Given the description of an element on the screen output the (x, y) to click on. 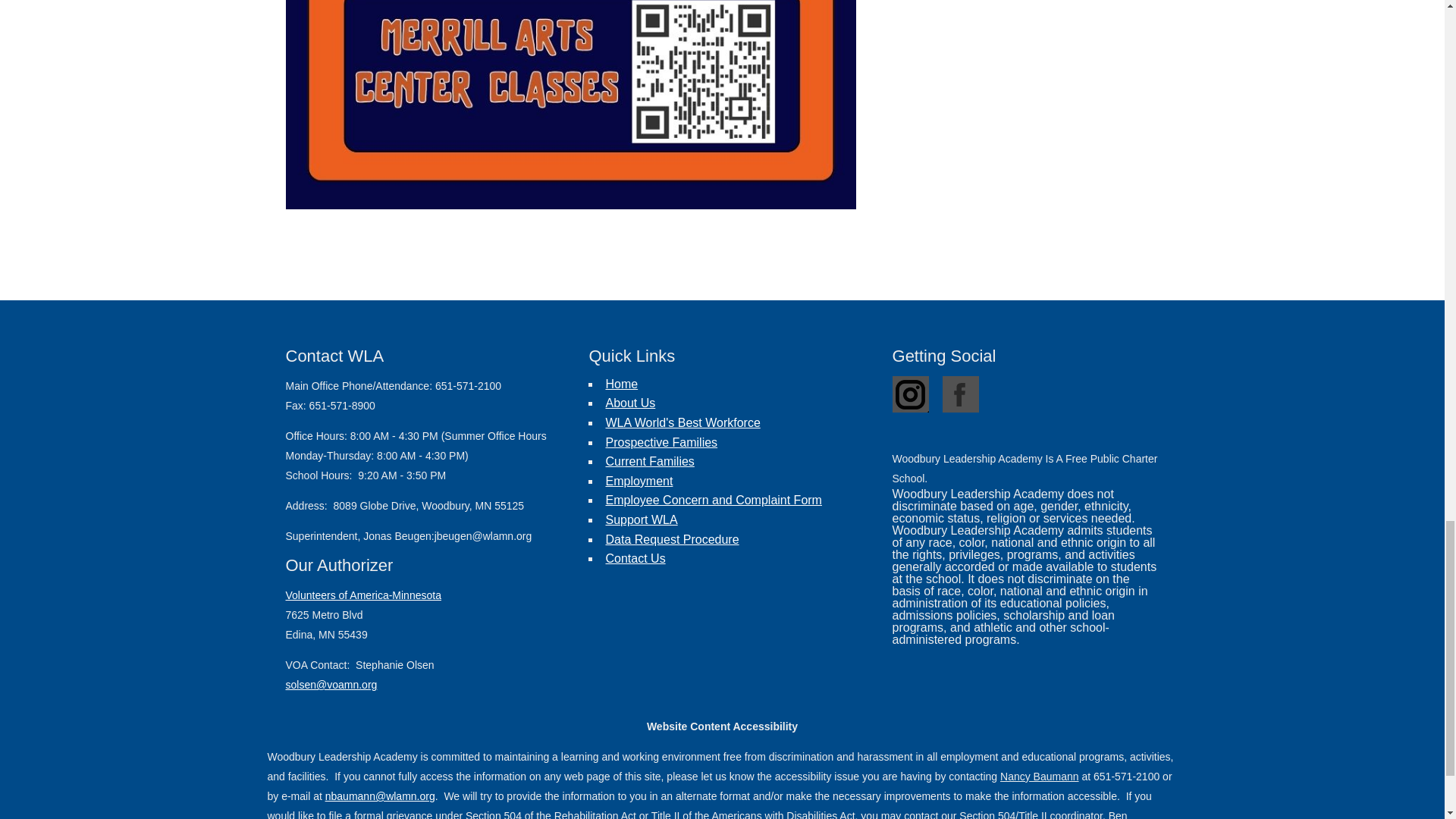
Employment (638, 481)
Contact Us (635, 558)
Support WLA (641, 519)
Prospective  Families (661, 441)
Annual Report and WBWF (682, 422)
